Given the description of an element on the screen output the (x, y) to click on. 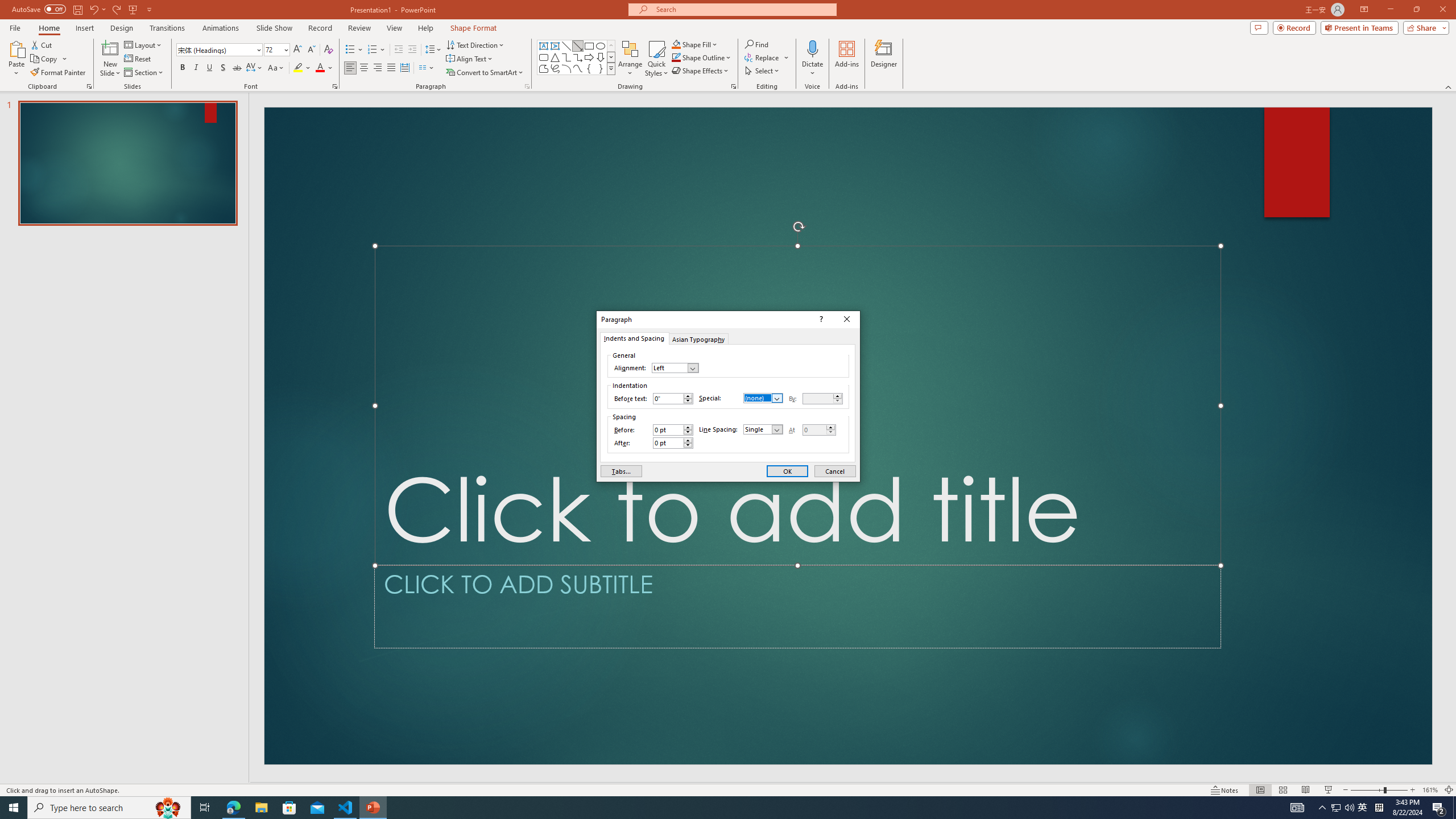
File Explorer (261, 807)
Align Left (349, 67)
Type here to search (108, 807)
Shape Fill Orange, Accent 2 (675, 44)
Q2790: 100% (1349, 807)
Freeform: Shape (543, 68)
Arrow: Right (589, 57)
Quick Styles (656, 58)
Text Highlight Color (302, 67)
